Given the description of an element on the screen output the (x, y) to click on. 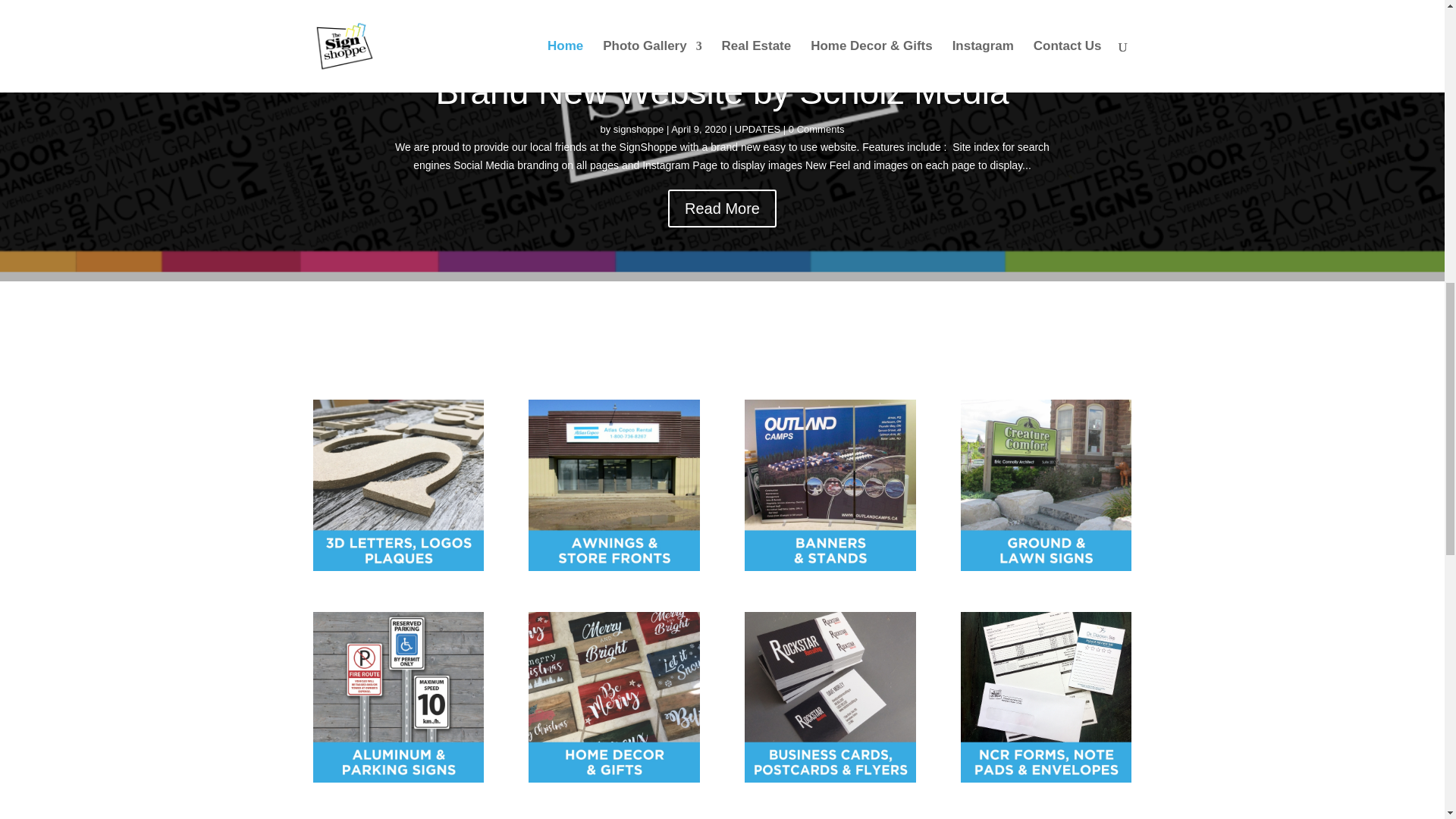
Posts by signshoppe (637, 132)
